Given the description of an element on the screen output the (x, y) to click on. 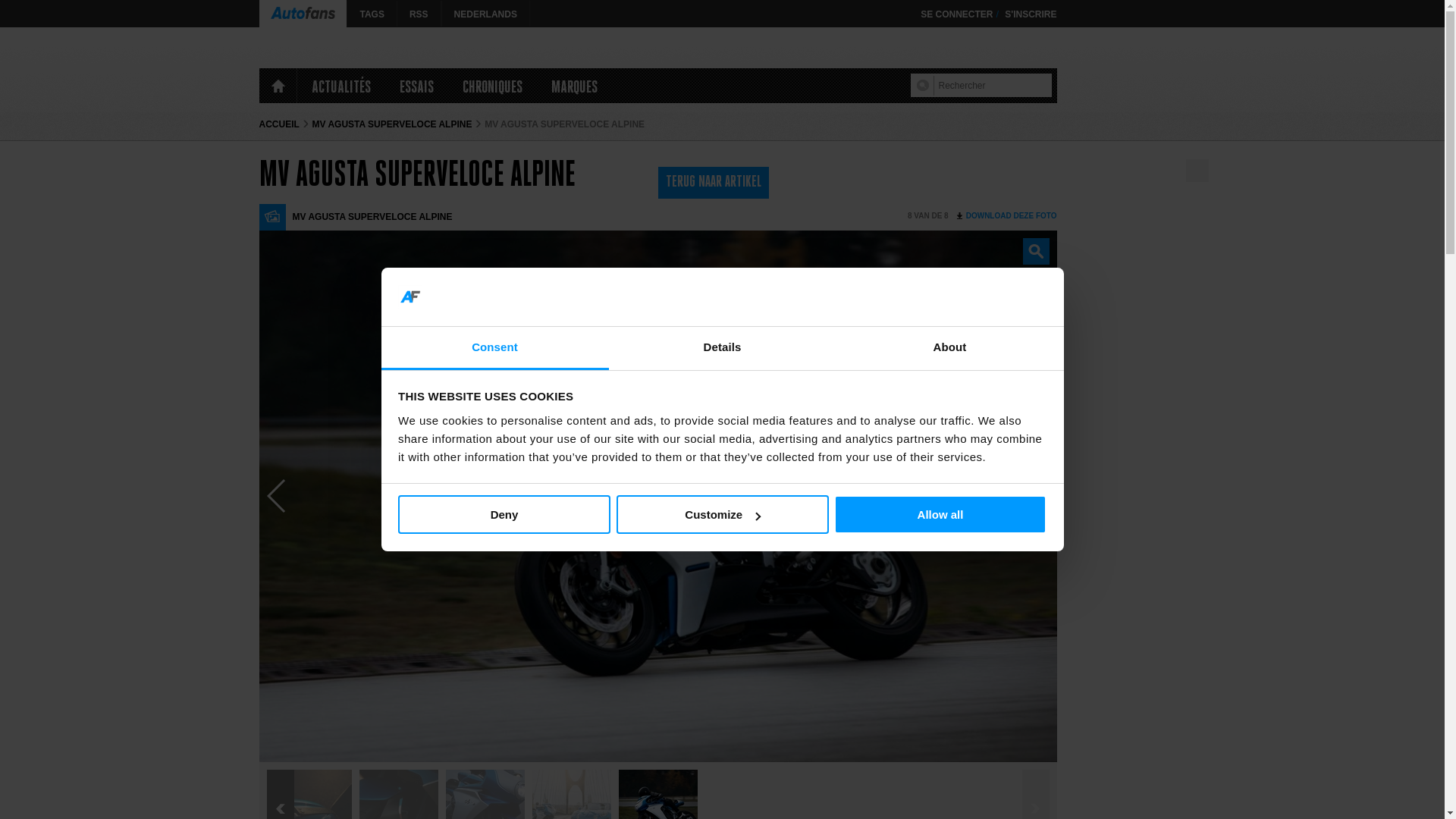
DOWNLOAD DEZE FOTO Element type: text (1007, 215)
TAGS Element type: text (371, 13)
HOME Element type: text (277, 85)
About Element type: text (949, 348)
MV AGUSTA SUPERVELOCE ALPINE Element type: text (392, 124)
RSS Element type: text (418, 13)
Deny Element type: text (504, 514)
MARQUES Element type: text (573, 85)
Consent Element type: text (494, 348)
S'INSCRIRE Element type: text (1030, 14)
TERUG NAAR ARTIKEL Element type: text (713, 182)
CHRONIQUES Element type: text (491, 85)
Details Element type: text (721, 348)
SE CONNECTER Element type: text (956, 14)
Allow all Element type: text (940, 514)
Rechercher Element type: text (924, 85)
NEDERLANDS Element type: text (485, 13)
Customize Element type: text (721, 514)
ACCUEIL Element type: text (279, 124)
ESSAIS Element type: text (416, 85)
